Given the description of an element on the screen output the (x, y) to click on. 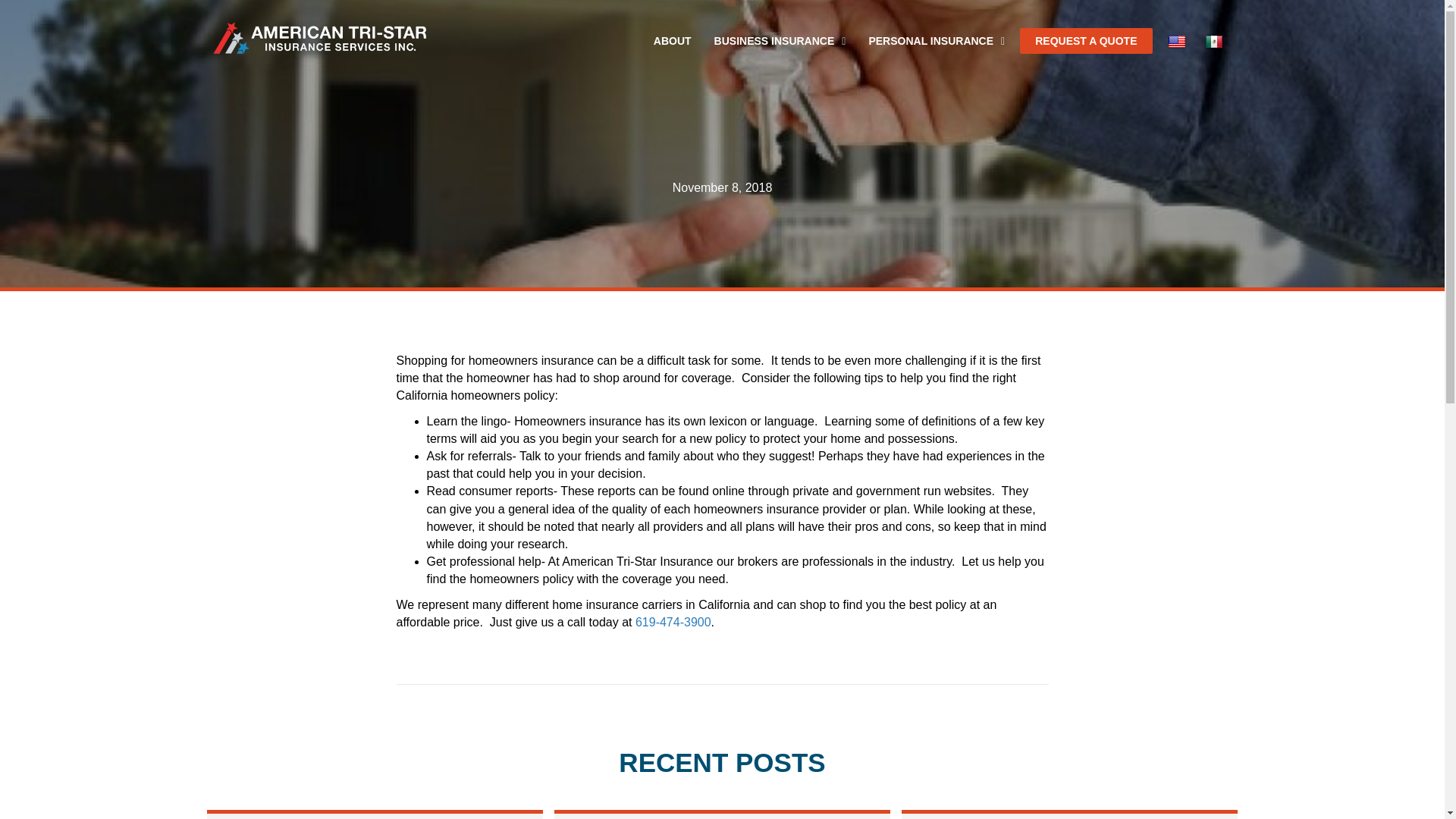
ABOUT (672, 40)
PERSONAL INSURANCE (935, 40)
English (1178, 42)
REQUEST A QUOTE (1085, 40)
Spanish (1214, 42)
BUSINESS INSURANCE (779, 40)
